Given the description of an element on the screen output the (x, y) to click on. 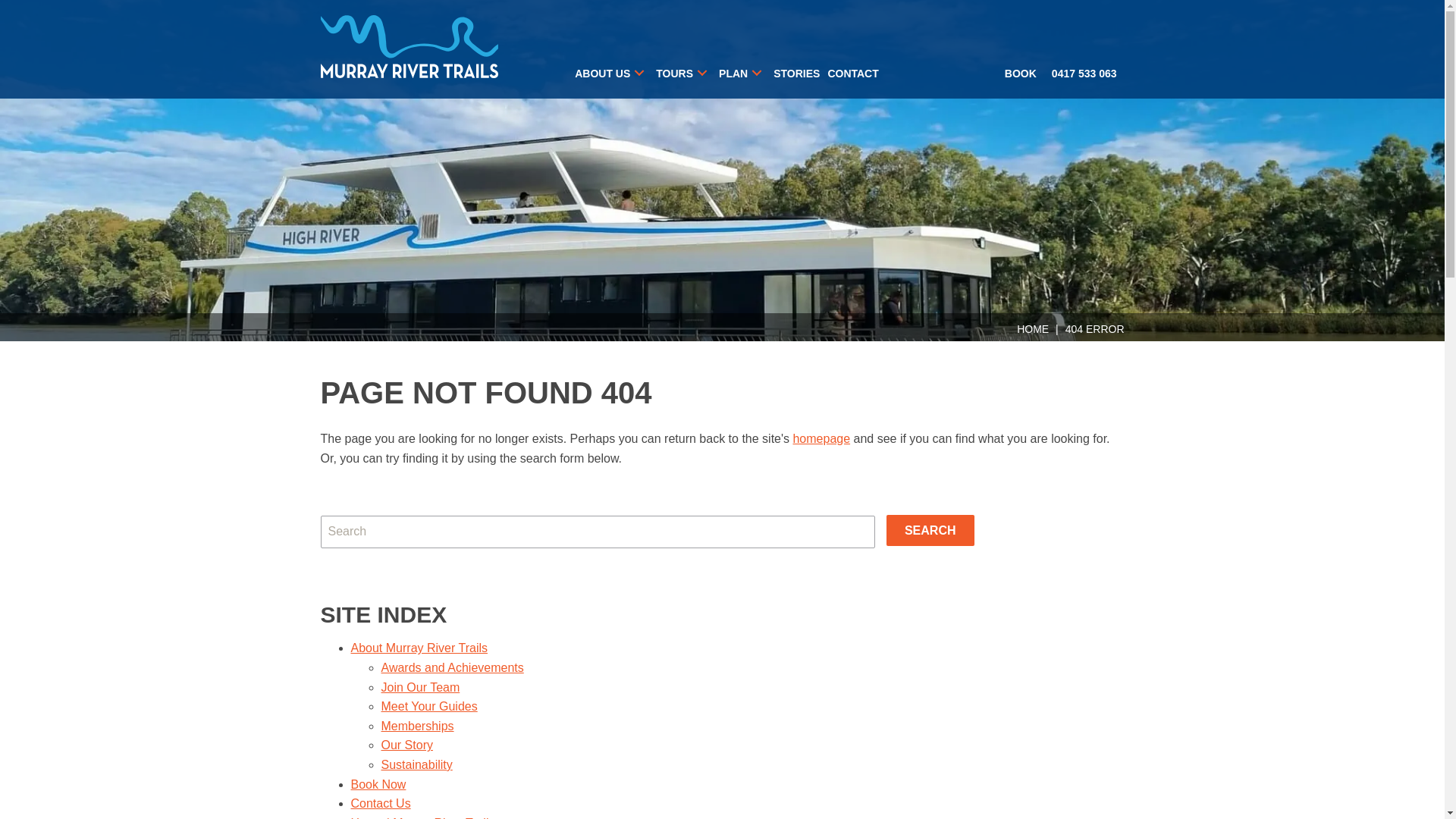
CONTACT Element type: text (856, 69)
Memberships Element type: text (416, 725)
0417 533 063 Element type: text (1084, 65)
homepage Element type: text (821, 438)
Our Story Element type: text (406, 744)
Join Our Team Element type: text (419, 686)
Search Element type: text (930, 530)
HOME Element type: text (1032, 329)
Meet Your Guides Element type: text (428, 705)
PLAN Element type: text (745, 69)
BOOK Element type: text (1020, 65)
LOGO Horiz Header Element type: hover (409, 46)
STORIES Element type: text (800, 69)
Awards and Achievements Element type: text (451, 667)
TOURS Element type: text (686, 69)
Sustainability Element type: text (415, 764)
Contact Us Element type: text (380, 803)
ABOUT US Element type: text (614, 69)
Book Now Element type: text (377, 784)
About Murray River Trails Element type: text (418, 647)
Send Element type: text (445, 343)
